Given the description of an element on the screen output the (x, y) to click on. 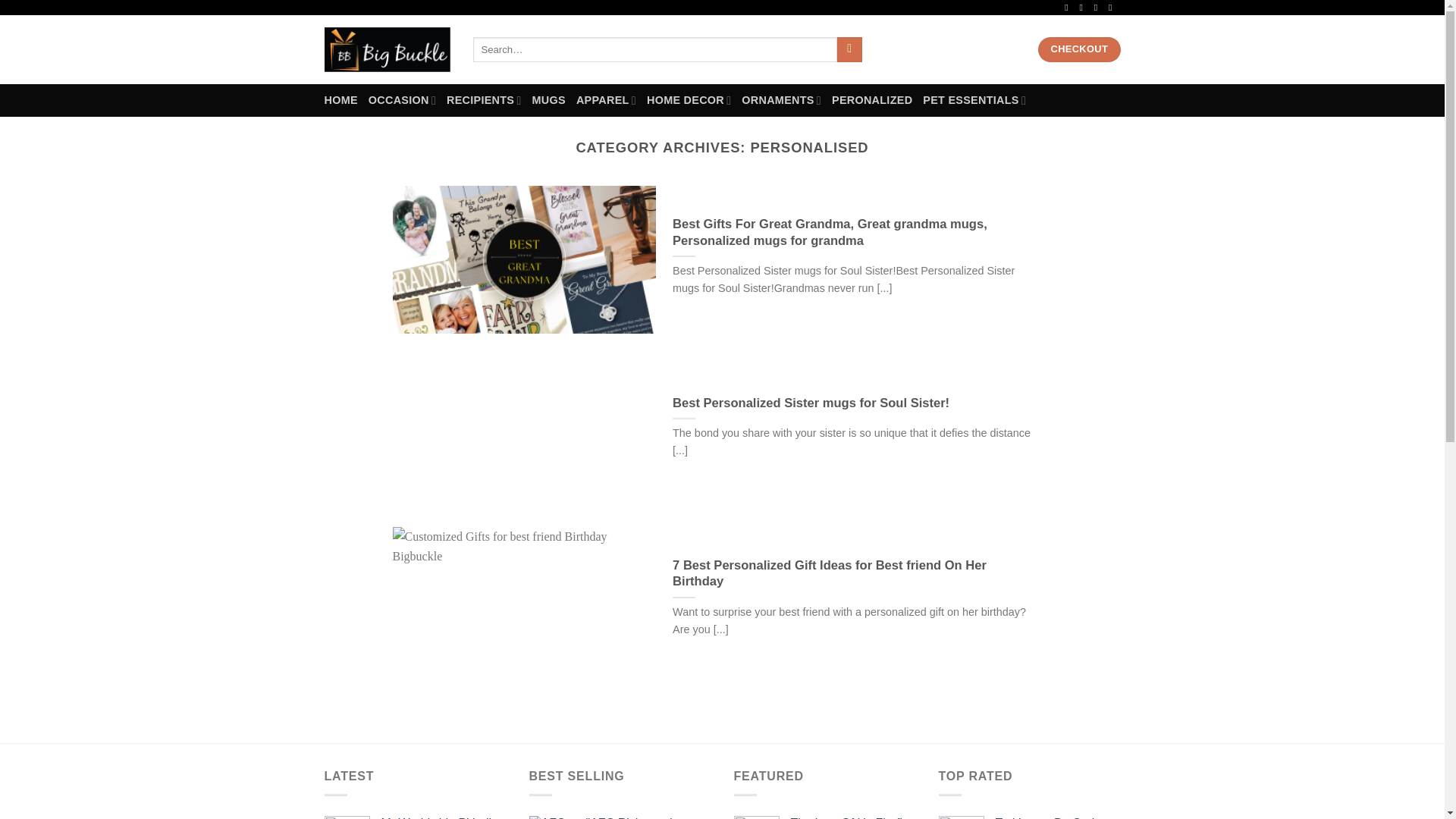
APPAREL (606, 100)
MUGS (549, 100)
HOME (341, 100)
CHECKOUT (1078, 49)
LOGIN (898, 49)
OCCASION (401, 100)
RECIPIENTS (483, 100)
Cart (982, 49)
Search (849, 49)
